Given the description of an element on the screen output the (x, y) to click on. 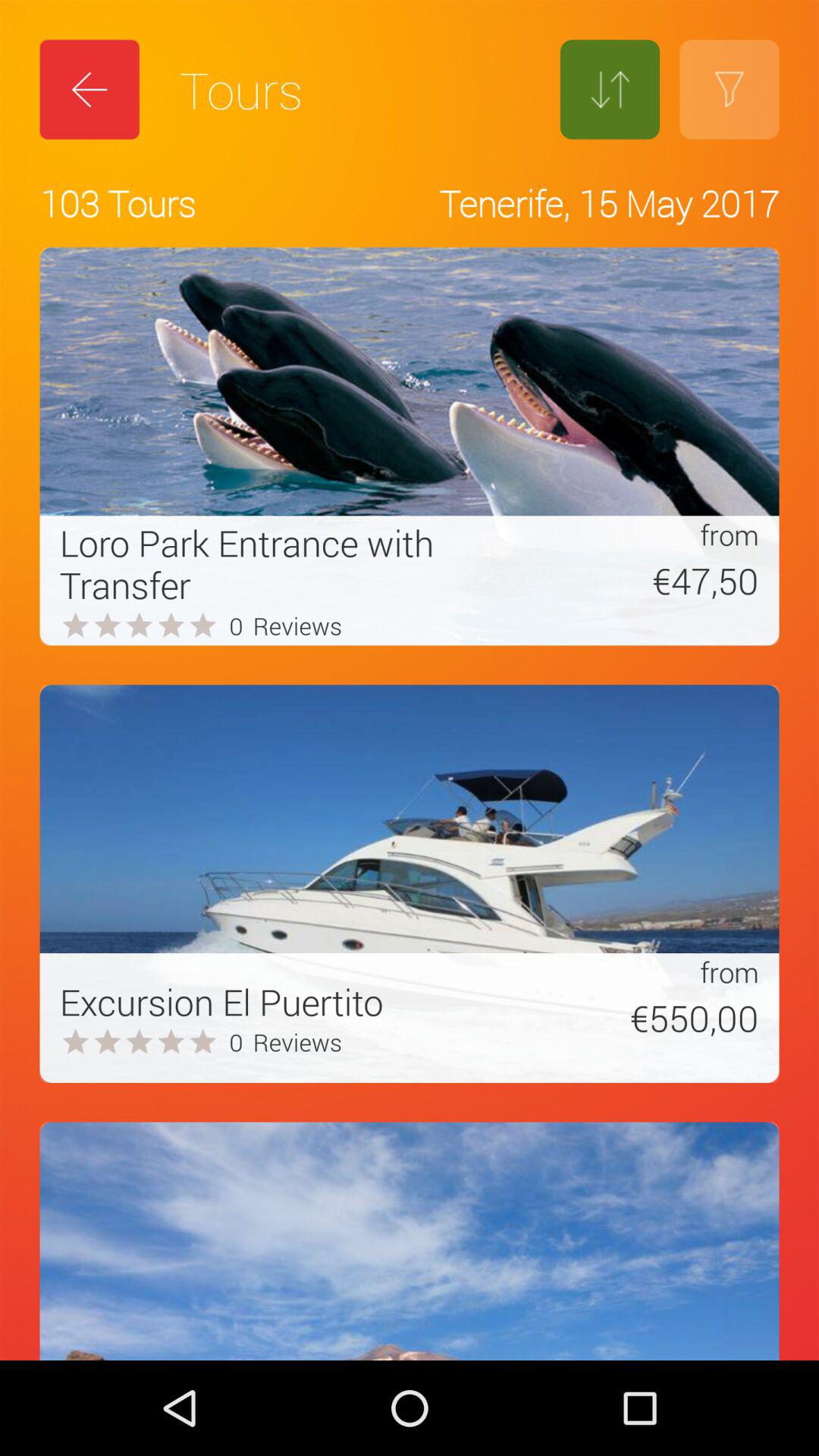
launch the icon above the 103 tours icon (89, 89)
